Given the description of an element on the screen output the (x, y) to click on. 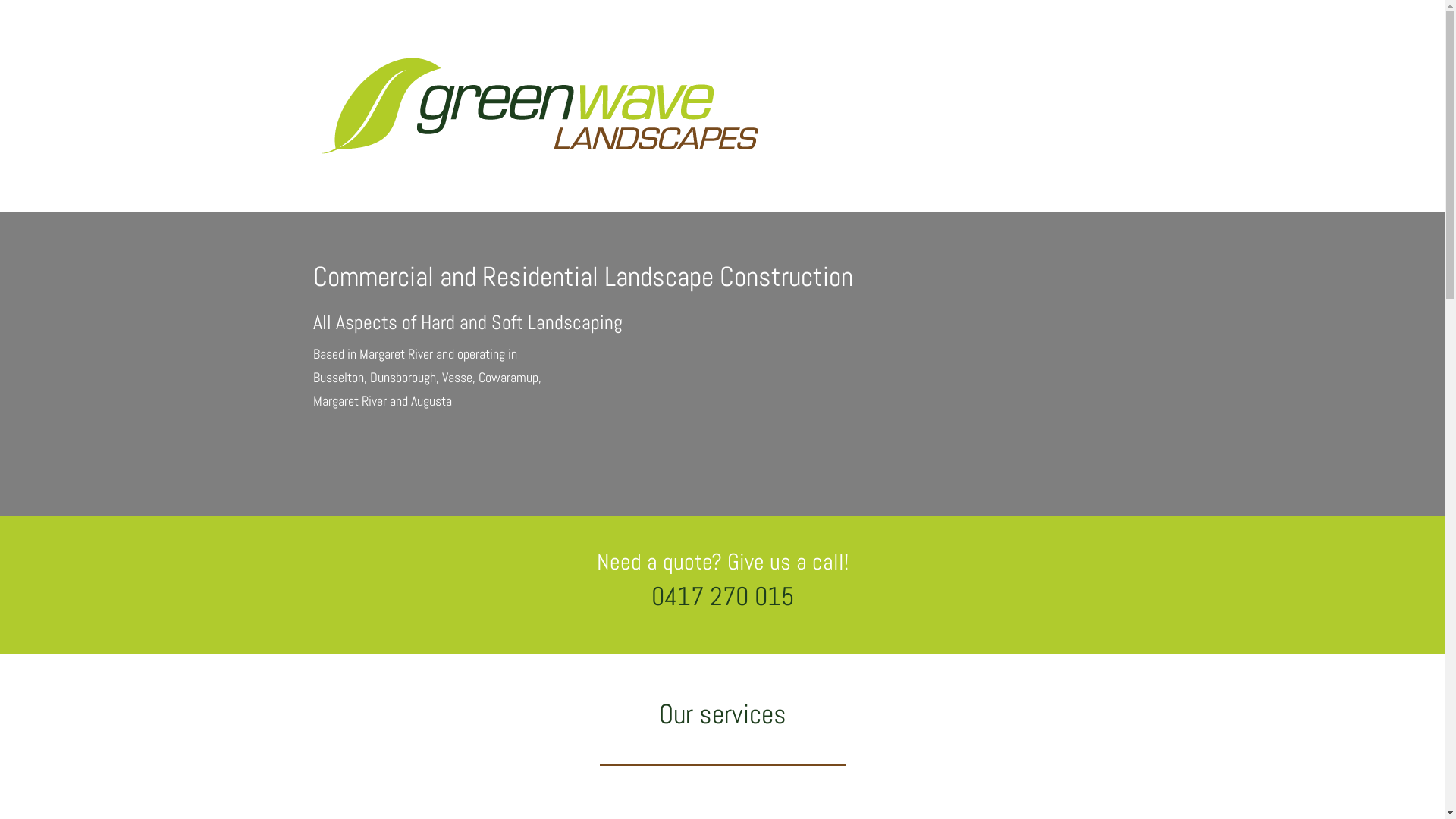
0417 270 015 Element type: text (721, 596)
GWL-Logo-WEB Element type: hover (539, 105)
